Given the description of an element on the screen output the (x, y) to click on. 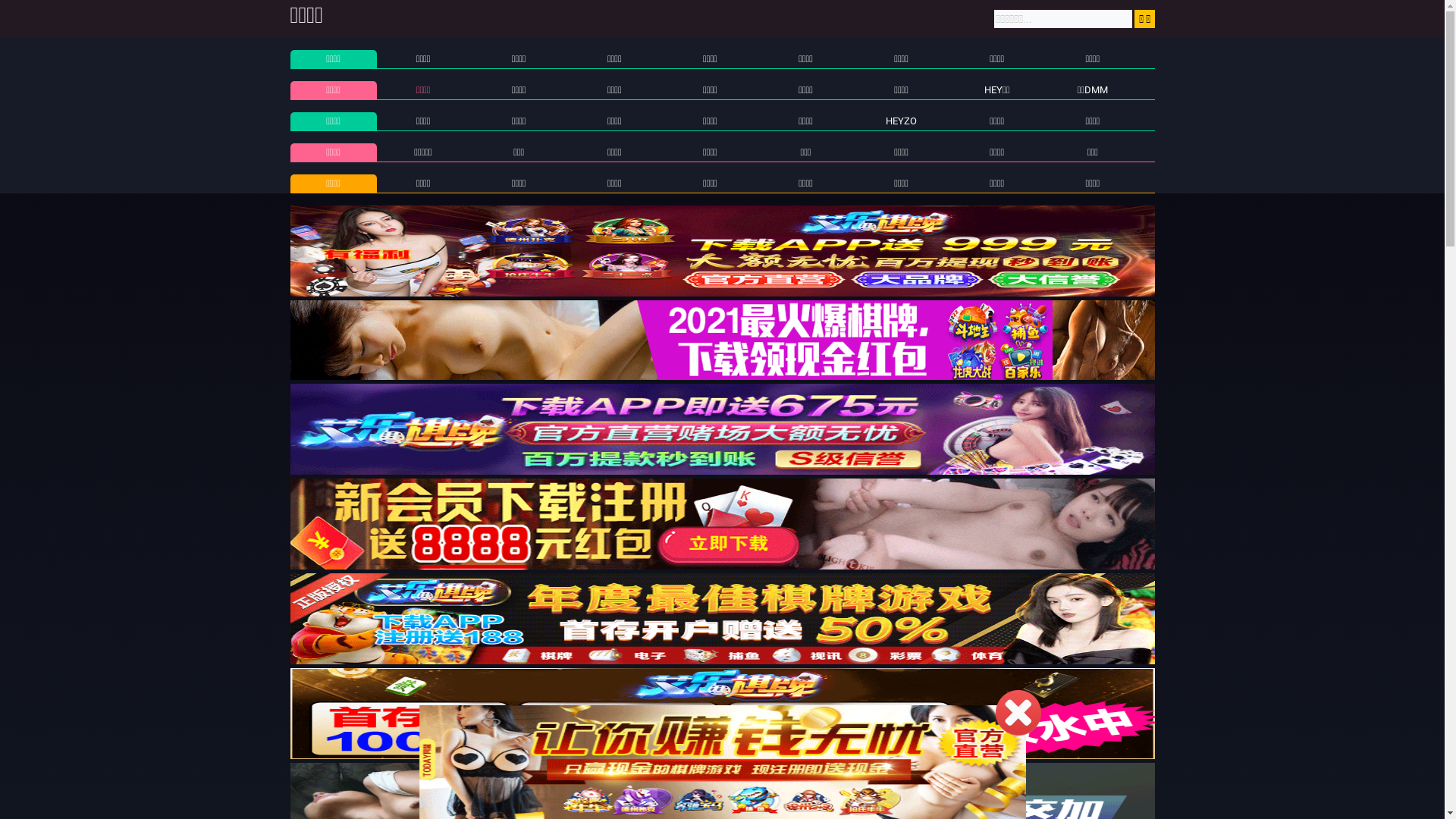
HEYZO Element type: text (900, 120)
